Given the description of an element on the screen output the (x, y) to click on. 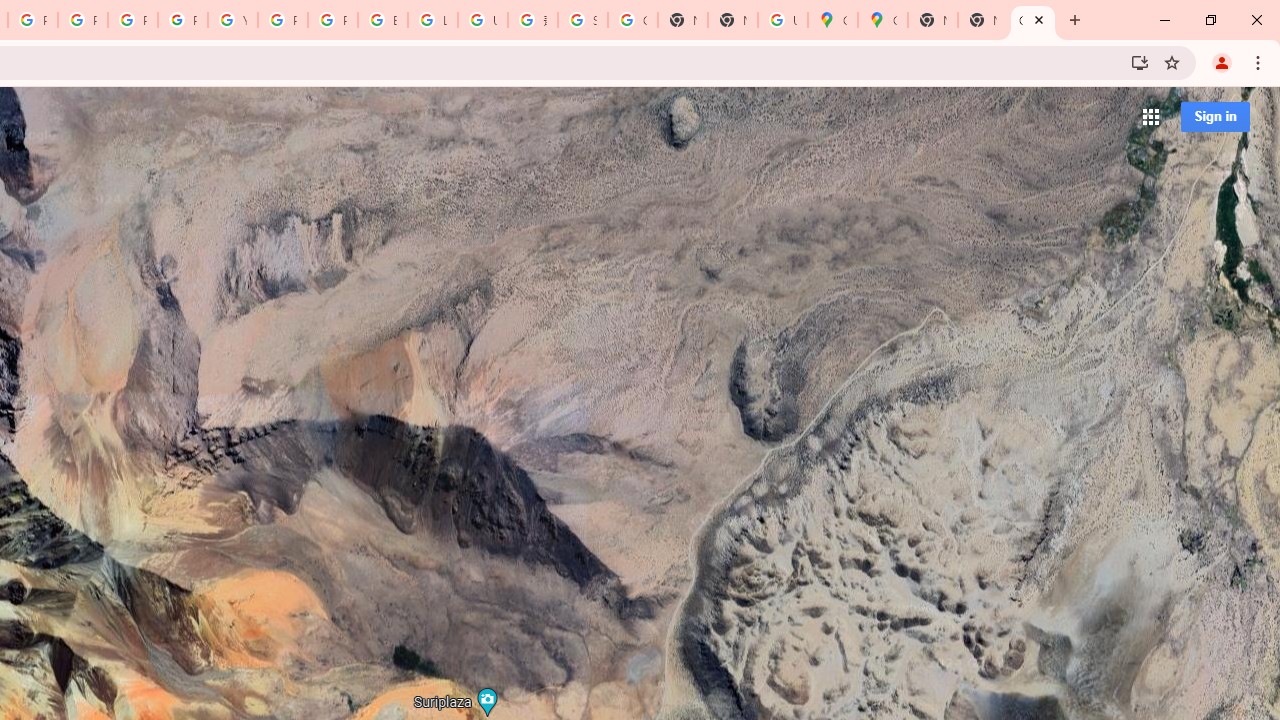
Use Google Maps in Space - Google Maps Help (782, 20)
Sign in - Google Accounts (582, 20)
Install Google Maps (1139, 62)
Google Maps (832, 20)
New Tab (982, 20)
Privacy Help Center - Policies Help (82, 20)
